Given the description of an element on the screen output the (x, y) to click on. 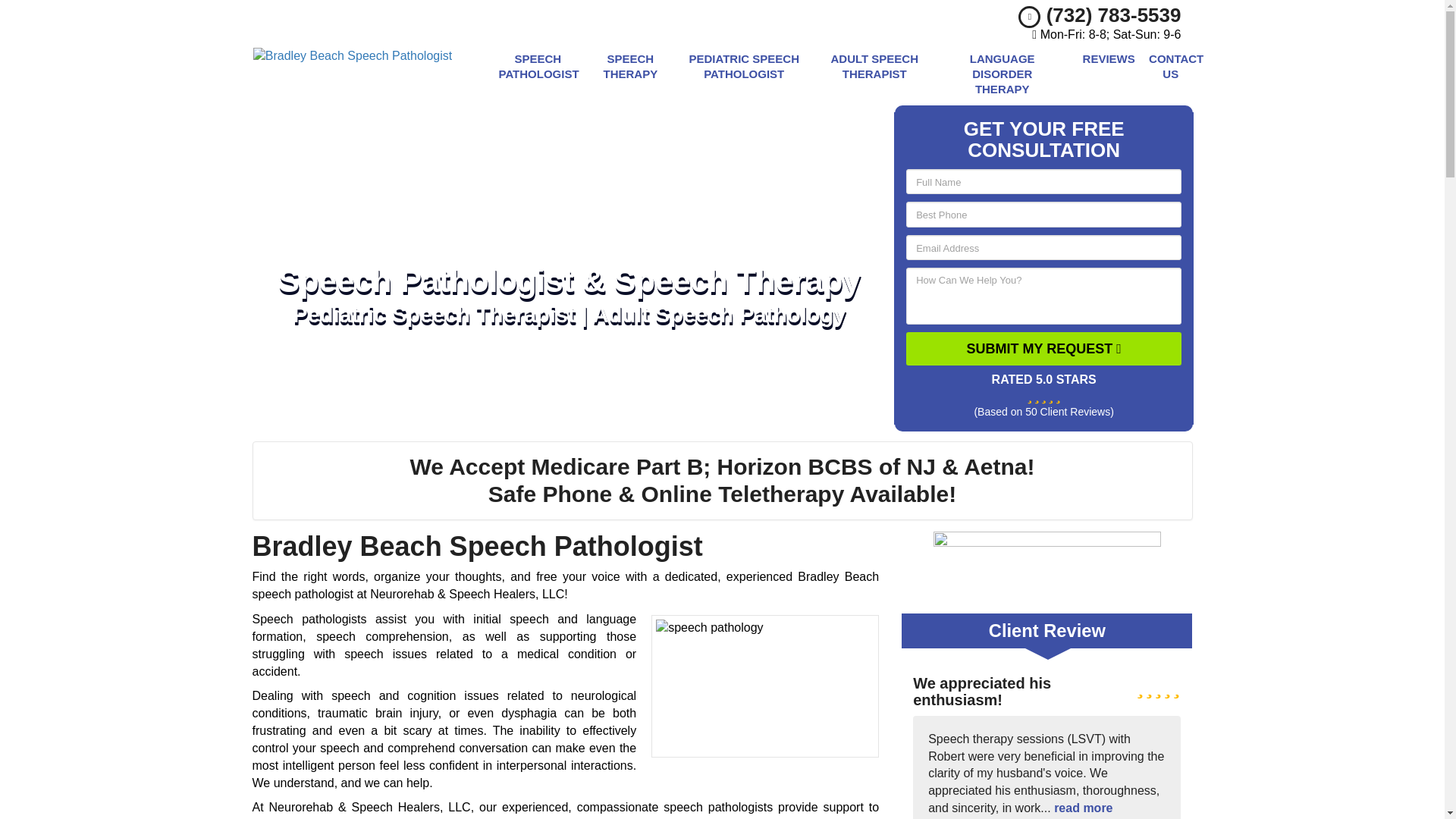
Contact Us (1170, 74)
Pediatric Speech Pathologist (743, 74)
CONTACT US (1170, 74)
read more (1083, 807)
LANGUAGE DISORDER THERAPY (1002, 74)
REVIEWS (1104, 74)
Reviews (1104, 74)
ADULT SPEECH THERAPIST (874, 74)
SPEECH THERAPY (630, 74)
SPEECH PATHOLOGIST (537, 74)
